Given the description of an element on the screen output the (x, y) to click on. 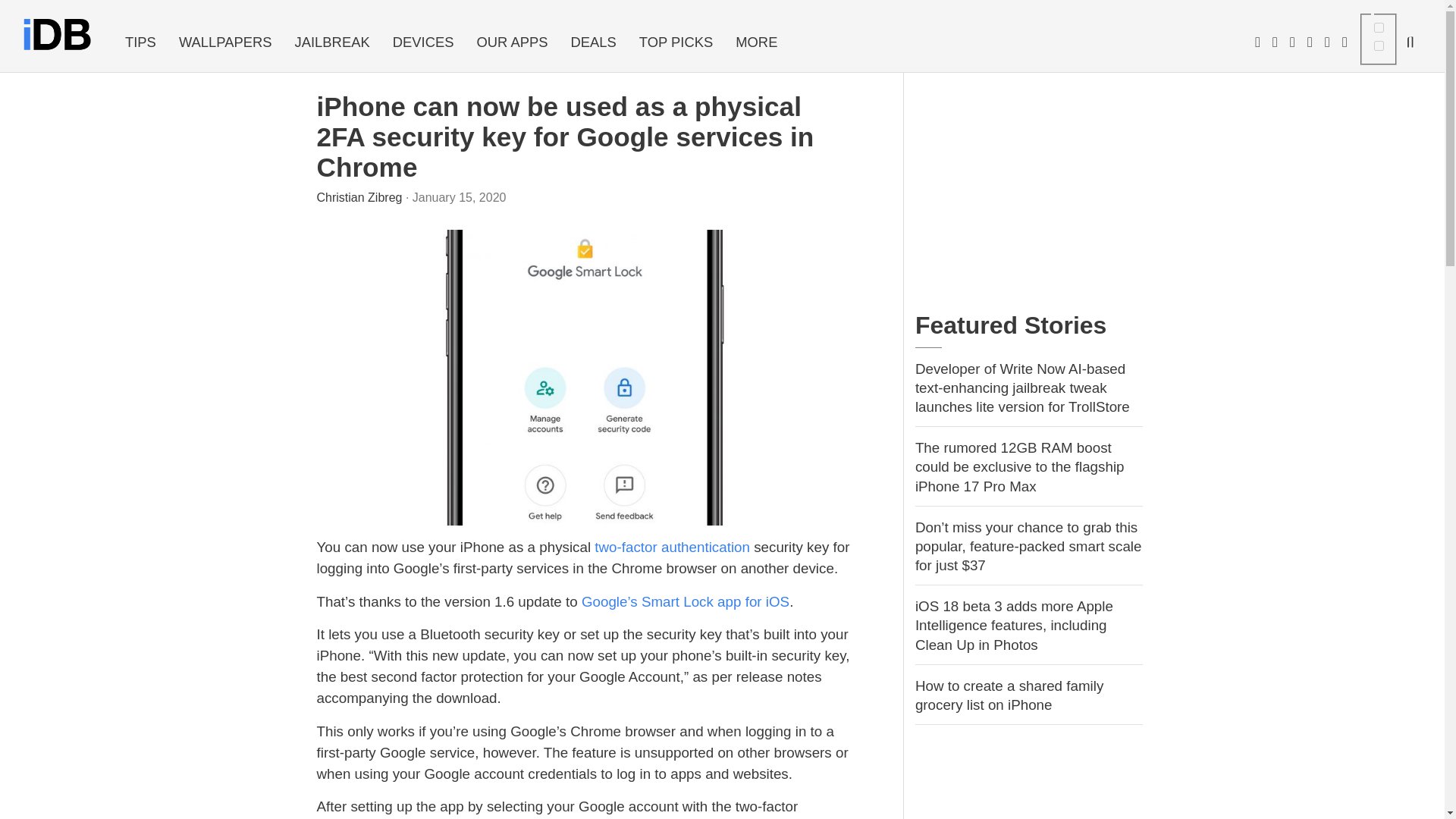
Wallpapers (225, 42)
JAILBREAK (332, 42)
DEVICES (423, 42)
TIPS (140, 42)
Tips (140, 42)
OUR APPS (511, 42)
WALLPAPERS (225, 42)
